Given the description of an element on the screen output the (x, y) to click on. 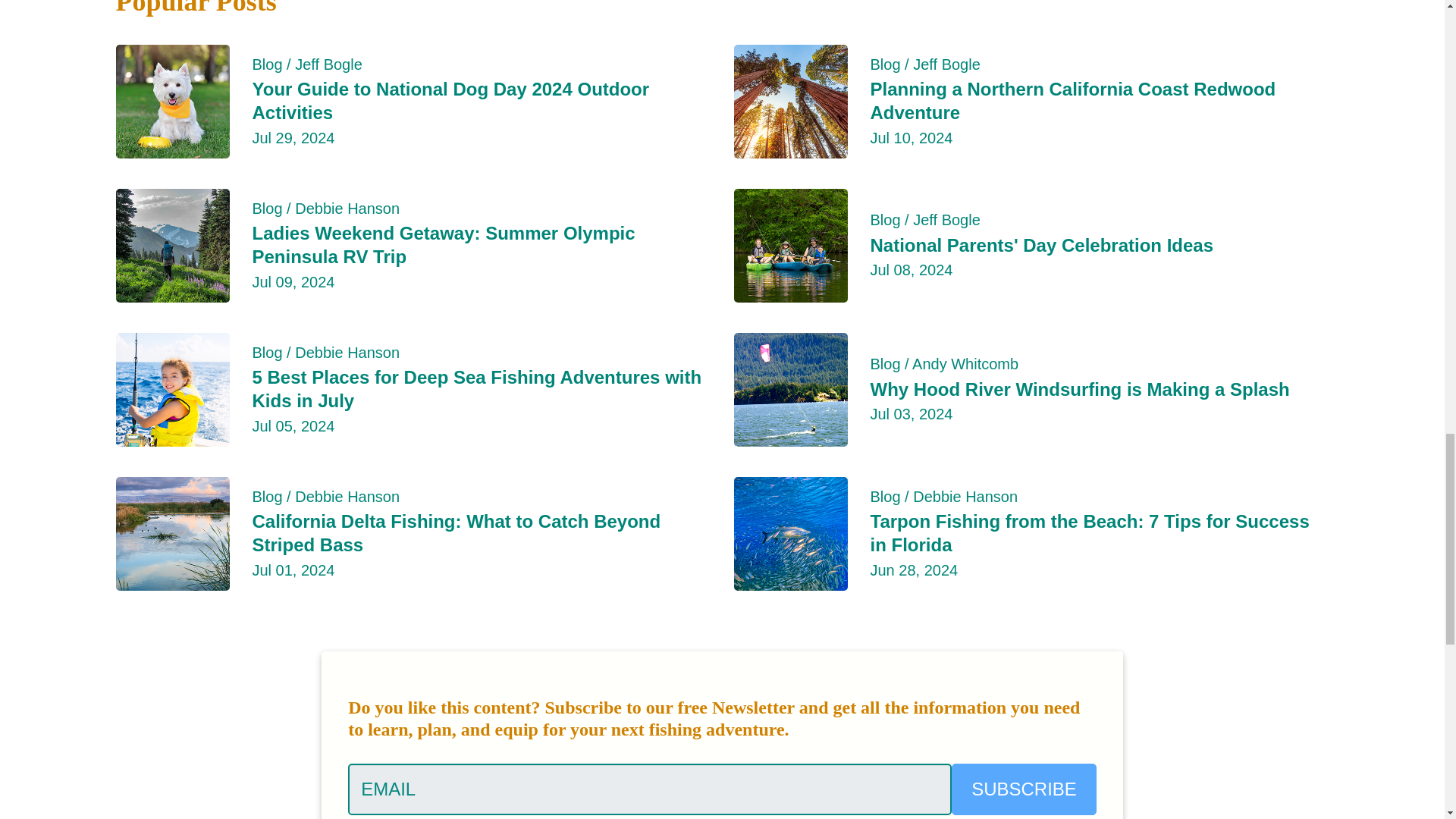
Subscribe (1024, 788)
